Given the description of an element on the screen output the (x, y) to click on. 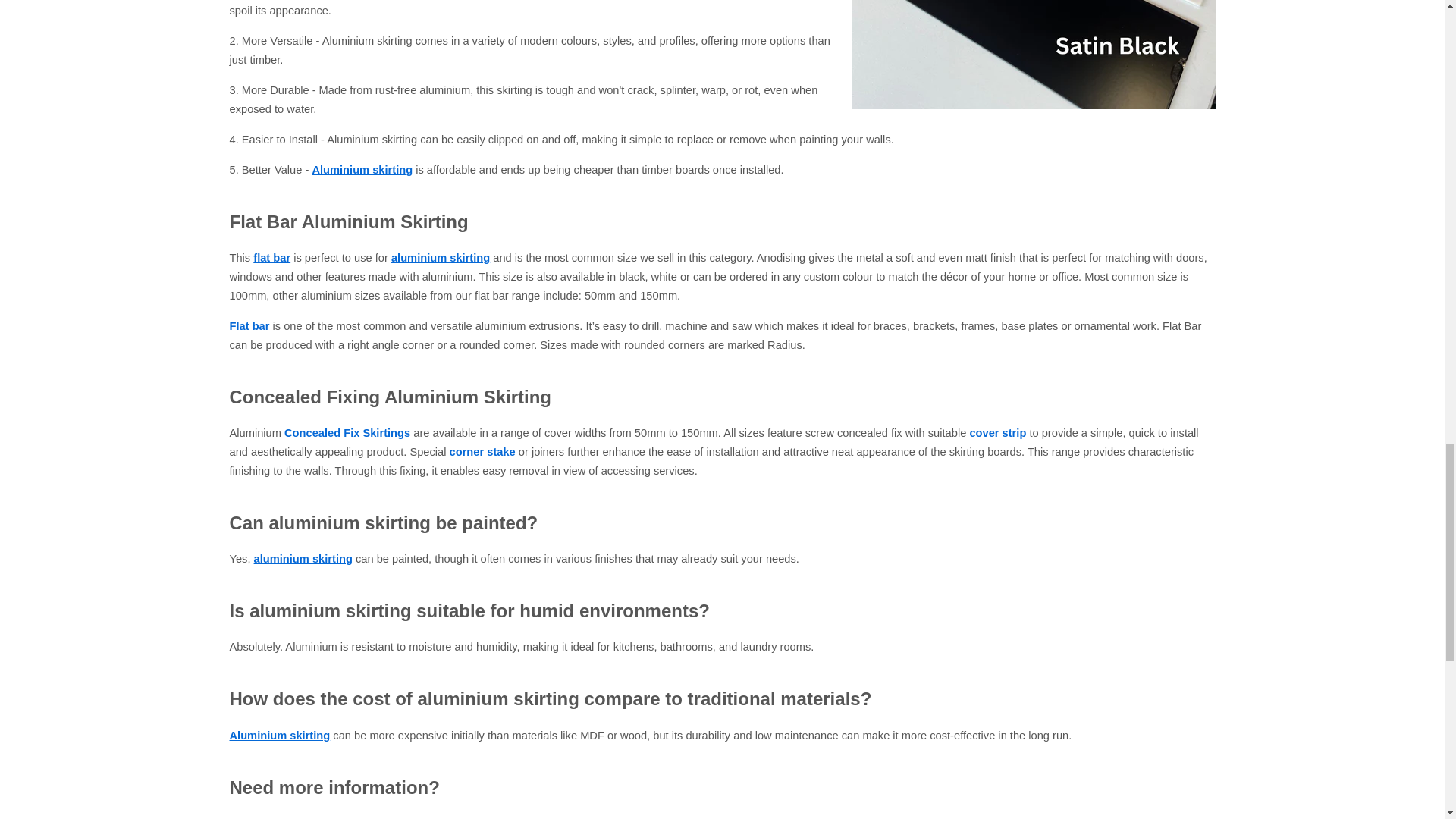
Aluminium Skirting (440, 257)
Aluminium Skirting (302, 558)
PVC Corner Stake (482, 451)
Flat Bar Skirting (271, 257)
Flat Bar Skirting (248, 326)
Concealed Fix Skirting (346, 432)
Aluminium Skirting (361, 169)
Aluminium Skirting (279, 735)
PVC cover strip (997, 432)
